Given the description of an element on the screen output the (x, y) to click on. 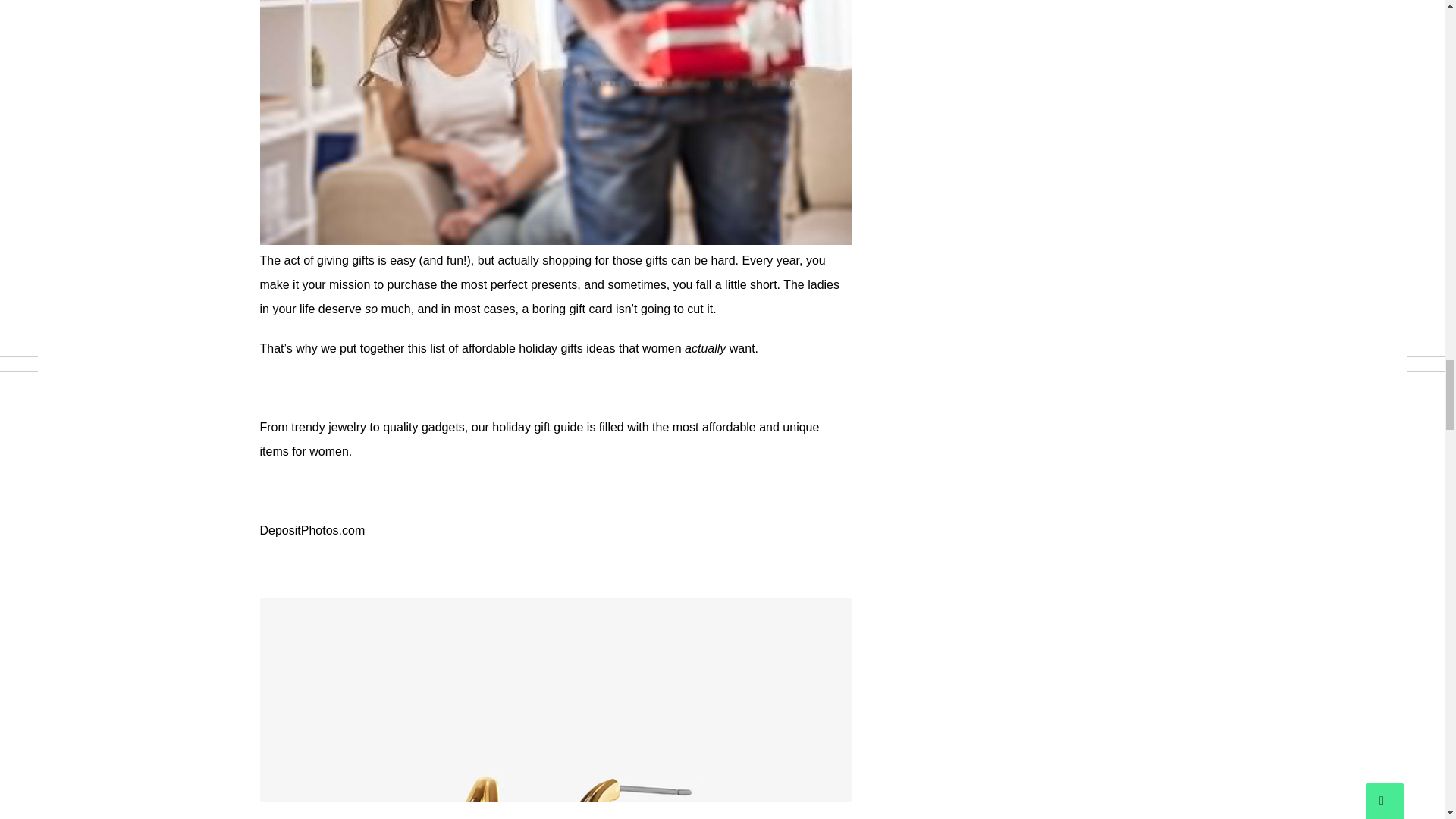
1. Ana Luisa jewelry (554, 708)
